Given the description of an element on the screen output the (x, y) to click on. 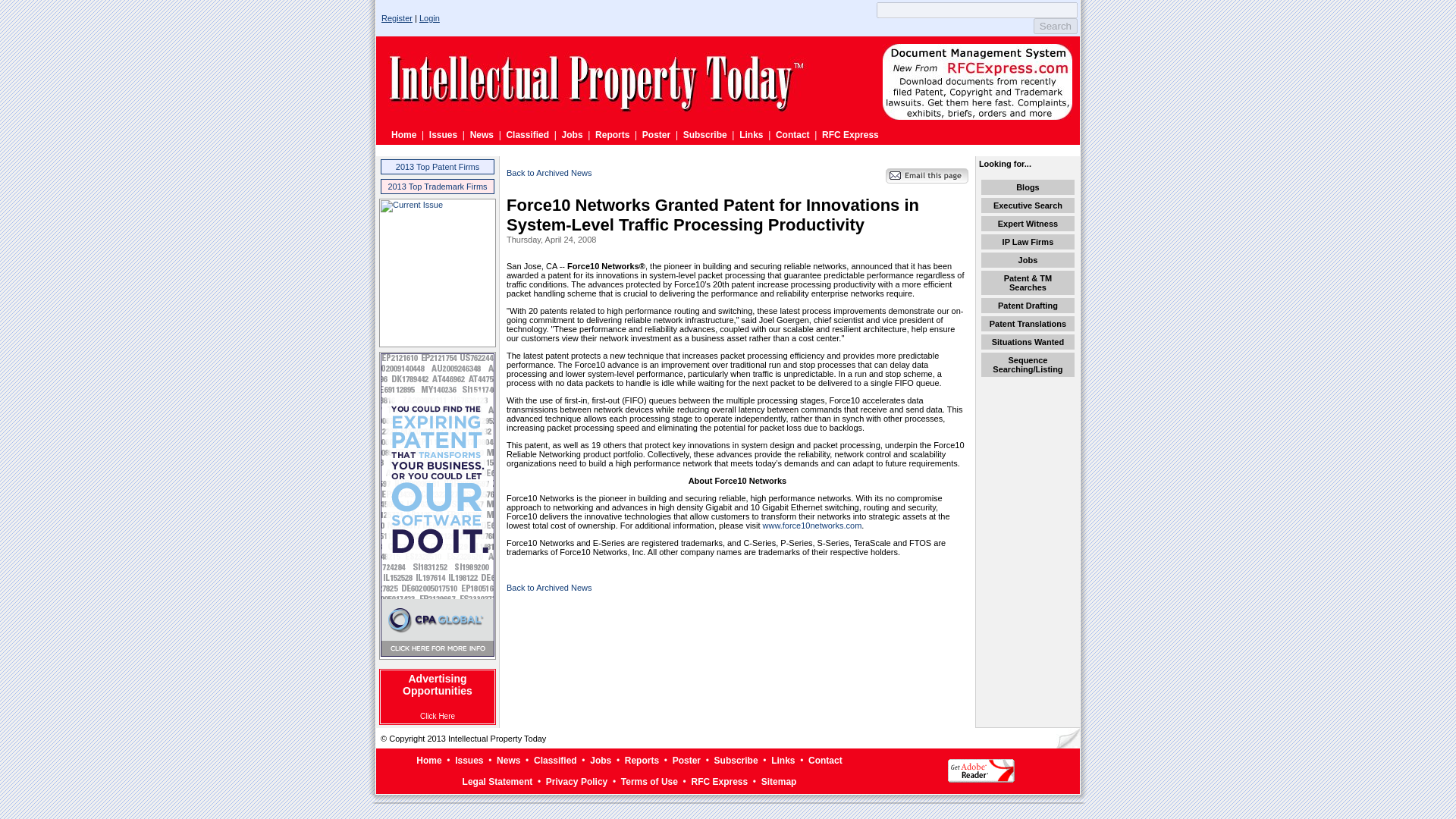
Blogs (1027, 186)
Poster (655, 134)
Subscribe (704, 134)
Back to Archived News (549, 587)
Jobs (600, 760)
Patent Translations (1027, 323)
Home (428, 760)
2013 Top Patent Firms (437, 166)
News (481, 134)
Links (750, 134)
